Given the description of an element on the screen output the (x, y) to click on. 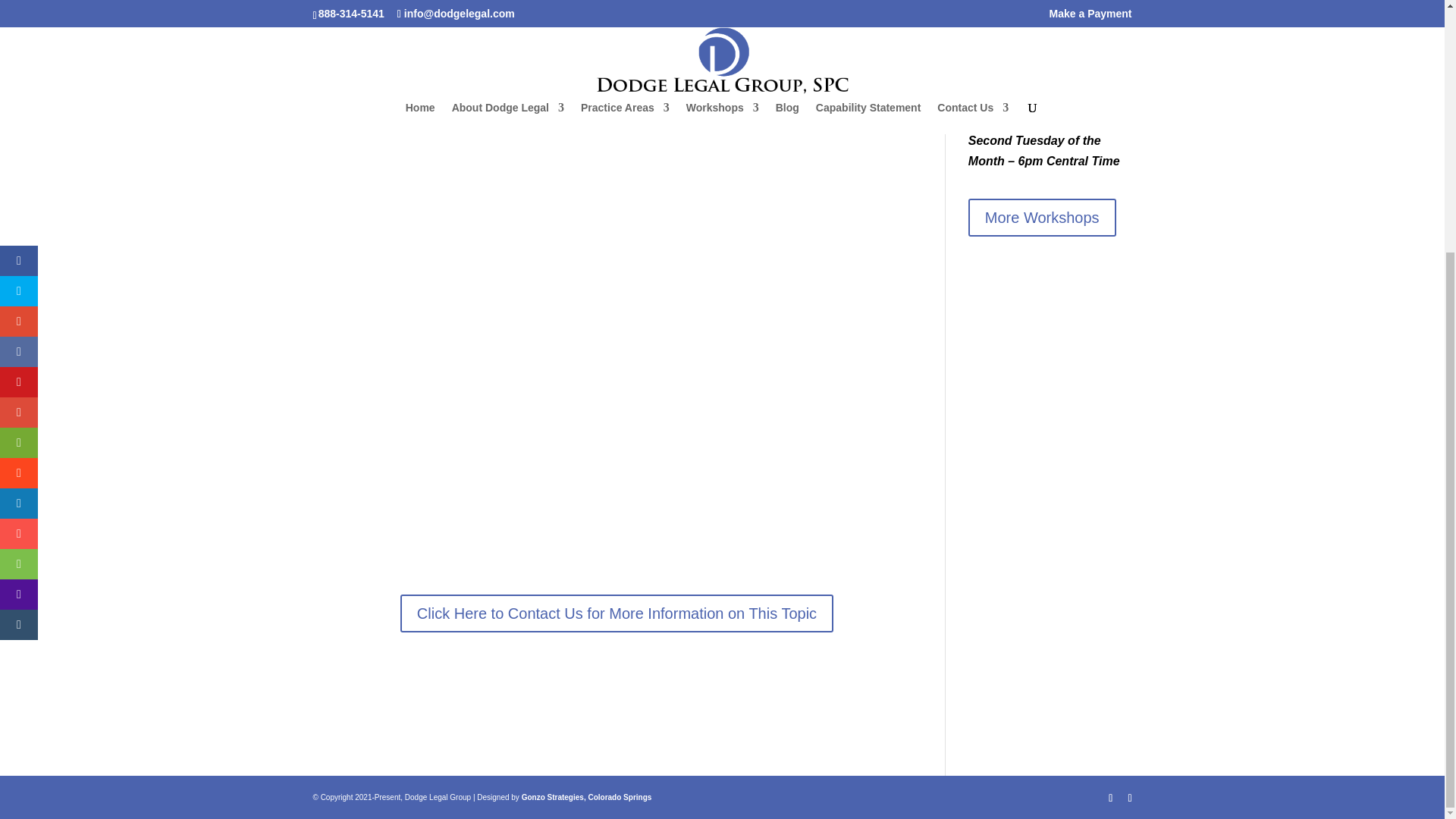
More Workshops (1042, 217)
Click Here to Contact Us for More Information on This Topic (616, 613)
Gonzo Strategies, Colorado Springs (586, 797)
